Given the description of an element on the screen output the (x, y) to click on. 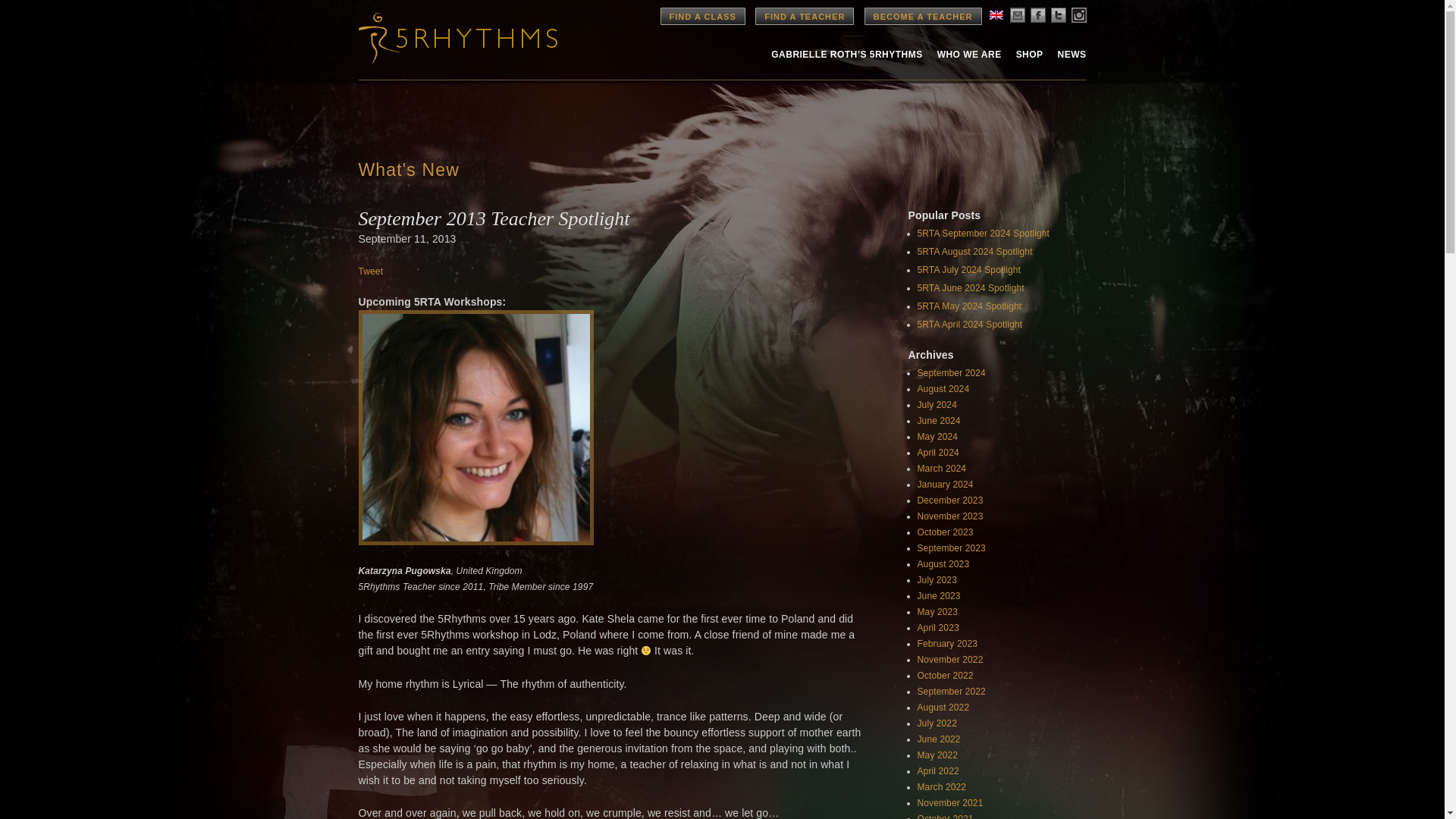
Tweet (370, 271)
WHO WE ARE (969, 54)
May 2024 (937, 436)
5RTA June 2024 Spotlight (971, 287)
August 2023 (943, 563)
October 2023 (945, 532)
September 2023 (951, 547)
June 2024 (938, 420)
SHOP (1029, 54)
BECOME A TEACHER (922, 16)
